Given the description of an element on the screen output the (x, y) to click on. 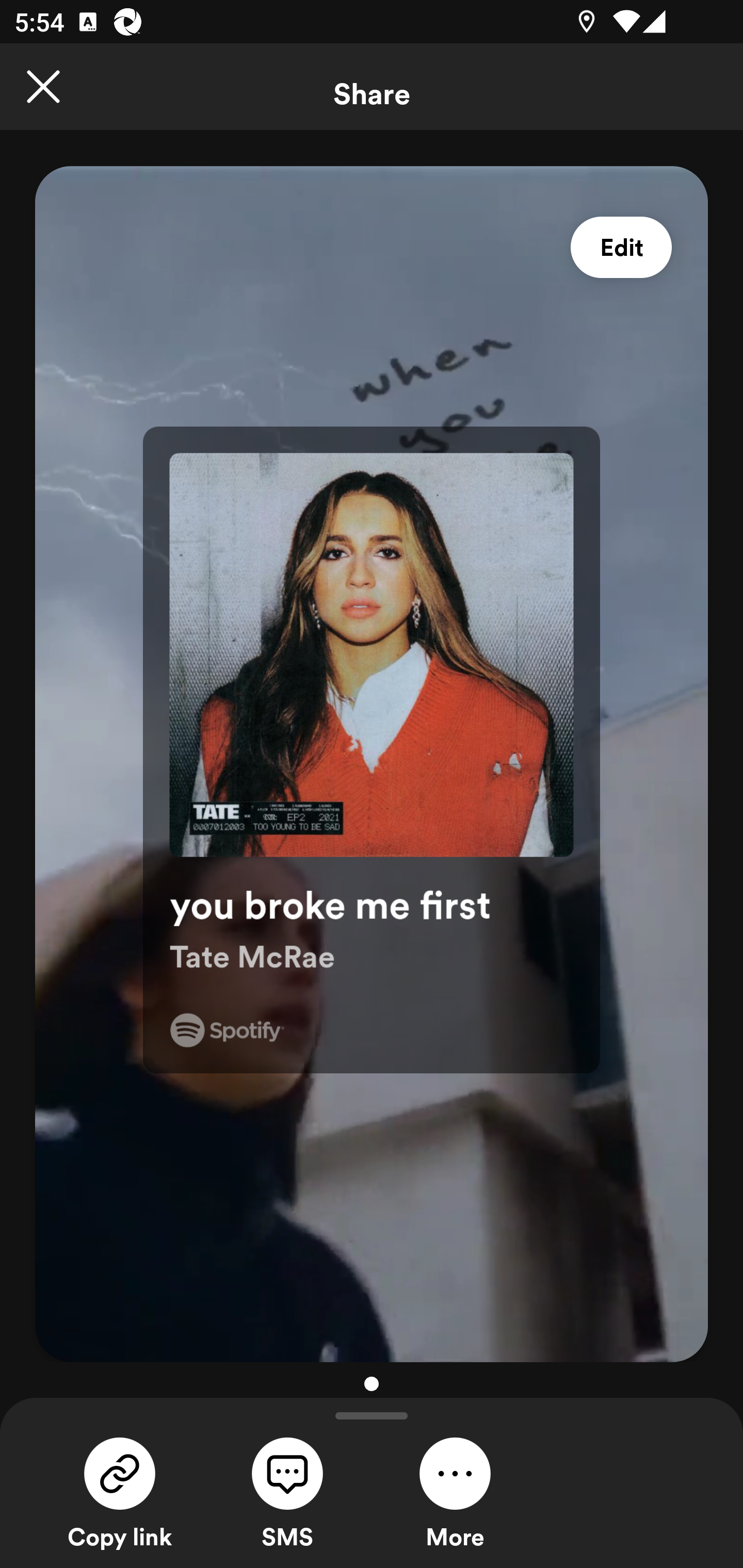
Close the Now Playing View (43, 86)
Edit (620, 247)
Copy share link Copy link (119, 1491)
Share over SMS SMS (287, 1491)
More sharing options More (455, 1491)
